Given the description of an element on the screen output the (x, y) to click on. 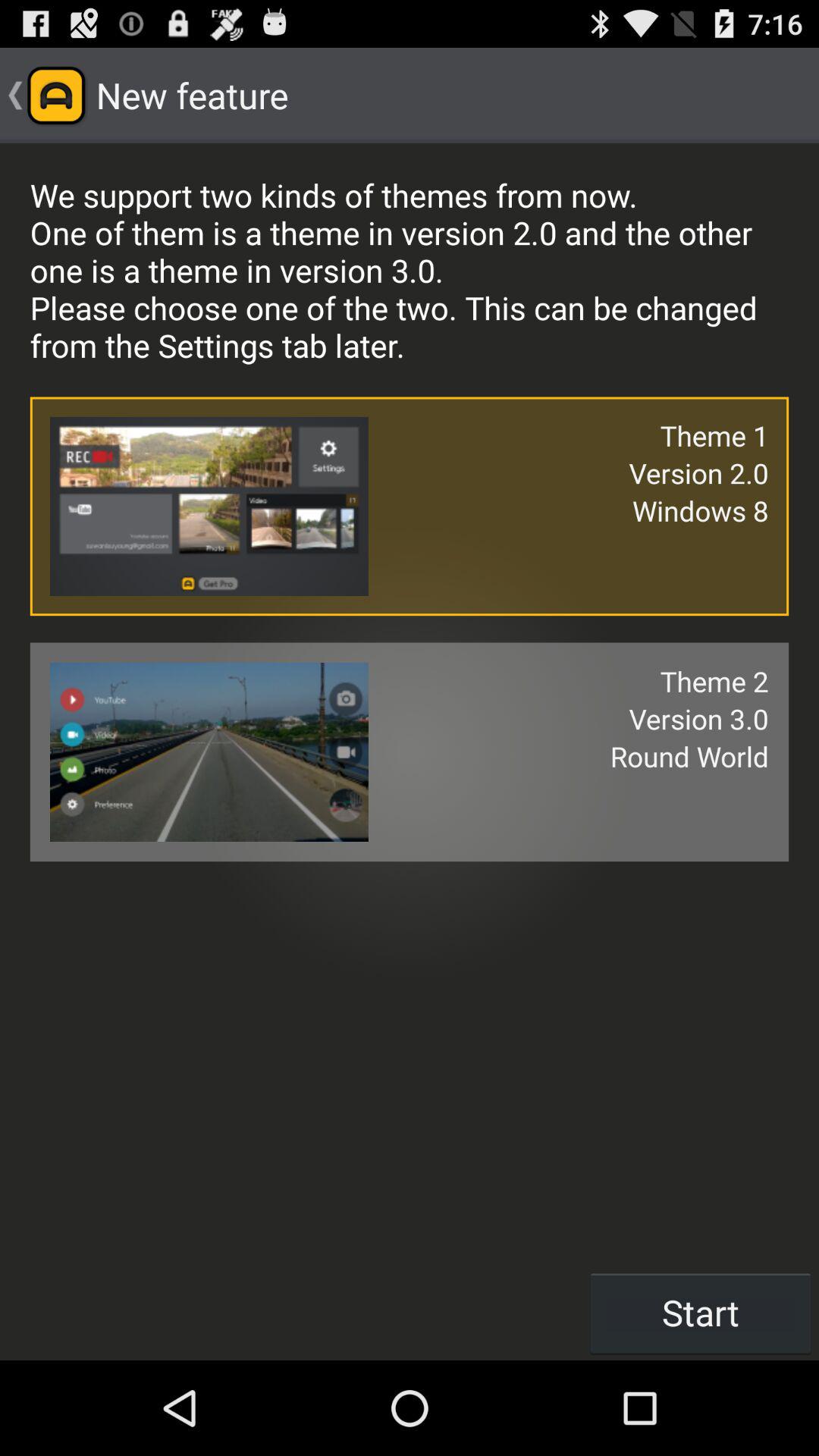
turn on the icon below the round world item (700, 1312)
